Given the description of an element on the screen output the (x, y) to click on. 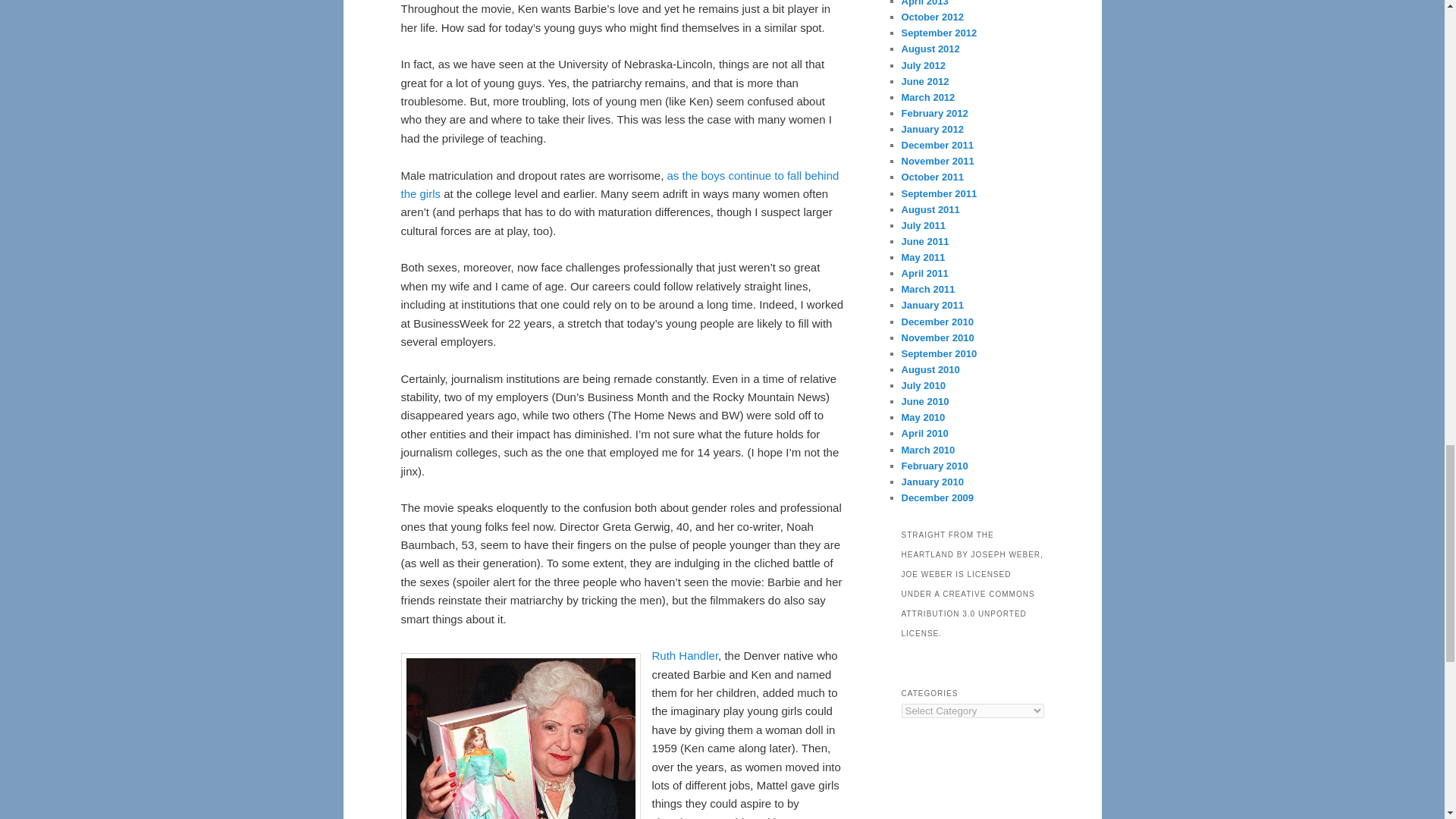
Ruth Handler (685, 655)
as the boys continue to fall behind the girls (619, 183)
